Given the description of an element on the screen output the (x, y) to click on. 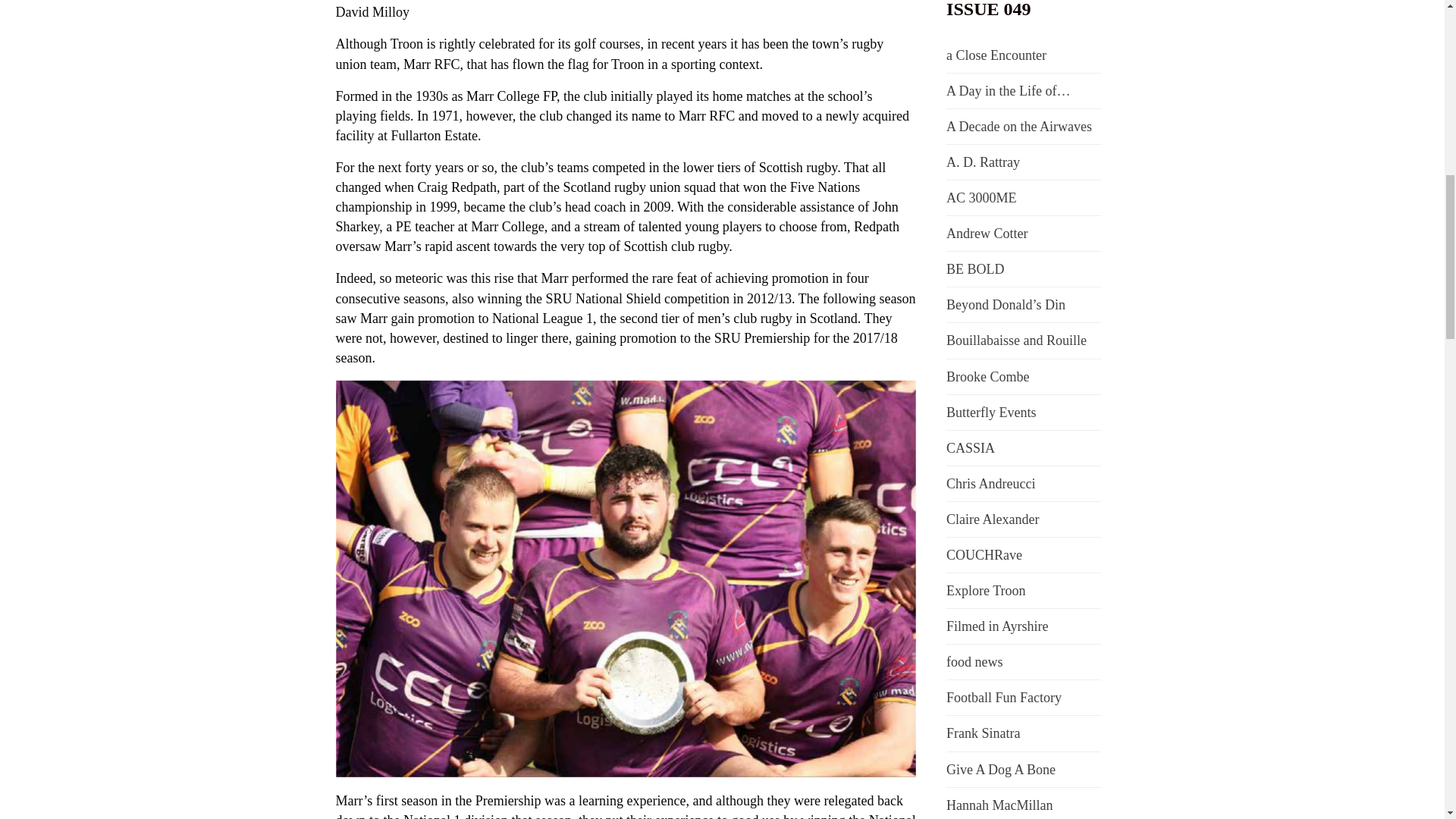
a Close Encounter (996, 55)
BE BOLD (975, 268)
COUCHRave (984, 554)
Hannah MacMillan (999, 805)
Football Fun Factory (1003, 697)
Filmed in Ayrshire (997, 626)
ISSUE 049 (988, 9)
Frank Sinatra (983, 733)
Brooke Combe (987, 376)
Bouillabaisse and Rouille (1016, 340)
Andrew Cotter (986, 233)
Claire Alexander (992, 519)
Explore Troon (986, 590)
Give A Dog A Bone (1000, 769)
food news (974, 661)
